Given the description of an element on the screen output the (x, y) to click on. 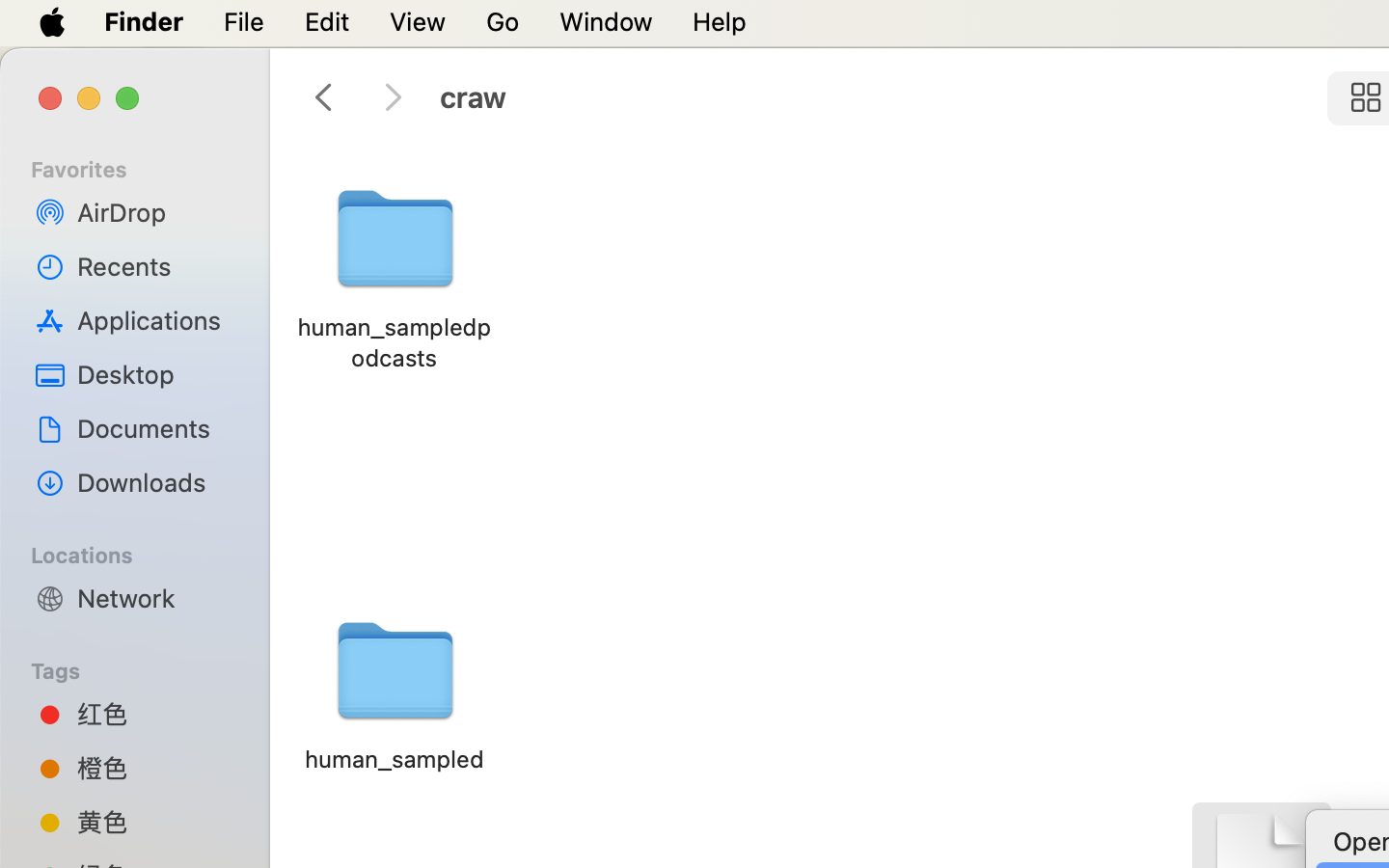
Network Element type: AXStaticText (155, 597)
Locations Element type: AXStaticText (145, 552)
Favorites Element type: AXStaticText (145, 166)
Downloads Element type: AXStaticText (155, 481)
Tags Element type: AXStaticText (145, 668)
